Given the description of an element on the screen output the (x, y) to click on. 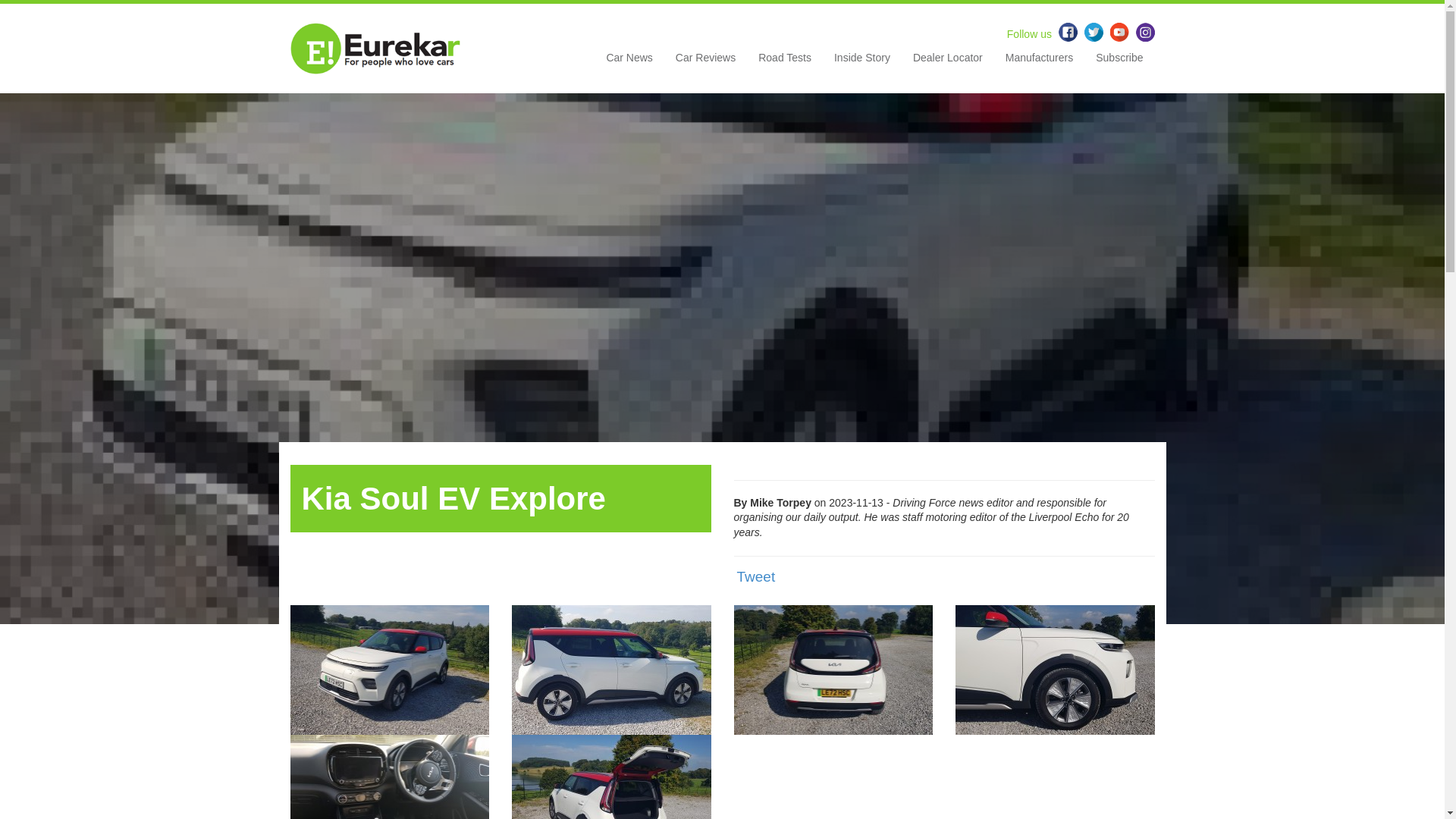
Road Tests (784, 62)
Subscribe (1119, 62)
Kia Soul EV Explore, 2023, interior (389, 798)
Manufacturers (1039, 62)
Kia Soul EV Explore, 2023, rear (833, 668)
Kia Soul EV Explore, 2023, front (389, 668)
Kia Soul EV Explore, 2023, side (611, 668)
Tweet (756, 576)
Kia Soul EV Explore, 2023, boot (611, 798)
Kia Soul EV Explore, 2023, wheel (1054, 668)
Car News (628, 62)
Inside Story (861, 62)
Car Reviews (704, 62)
Dealer Locator (947, 62)
